Given the description of an element on the screen output the (x, y) to click on. 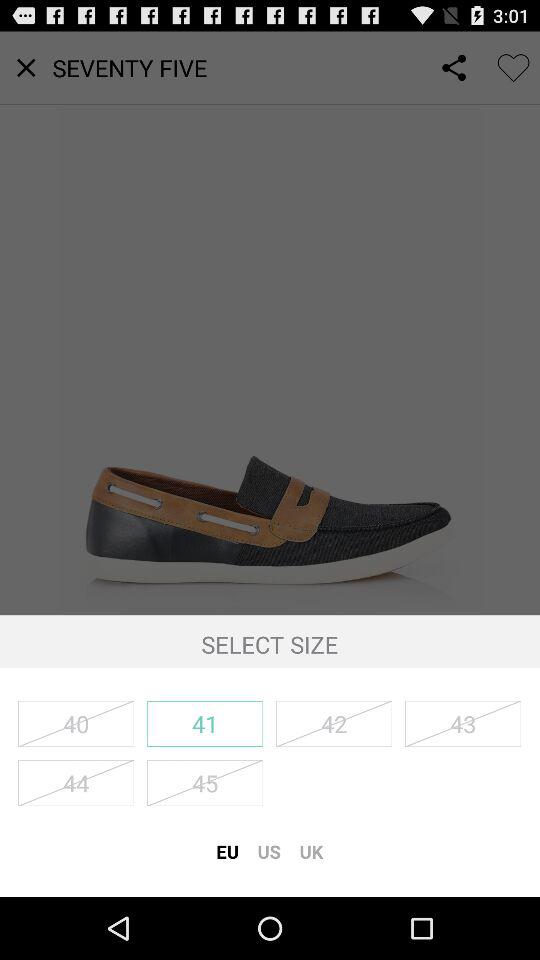
tap the uk item (311, 851)
